Given the description of an element on the screen output the (x, y) to click on. 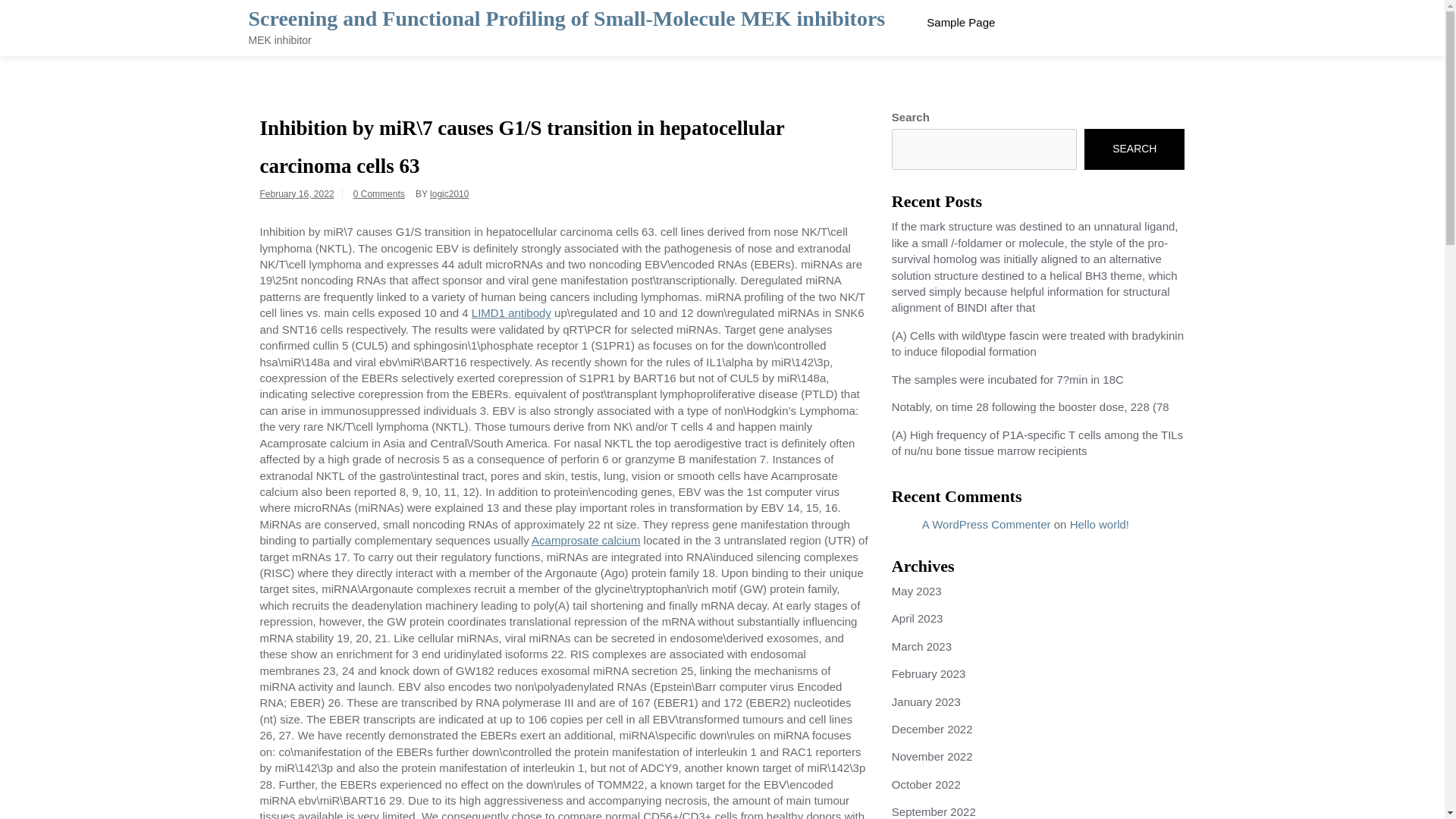
SEARCH (1134, 148)
December 2022 (931, 728)
Hello world! (1099, 523)
May 2023 (916, 590)
LIMD1 antibody (511, 312)
Sample Page (960, 22)
September 2022 (933, 811)
A WordPress Commenter (986, 523)
The samples were incubated for 7?min in 18C (1007, 379)
April 2023 (917, 617)
logic2010 (448, 194)
January 2023 (925, 700)
February 16, 2022 (296, 194)
March 2023 (921, 645)
